Given the description of an element on the screen output the (x, y) to click on. 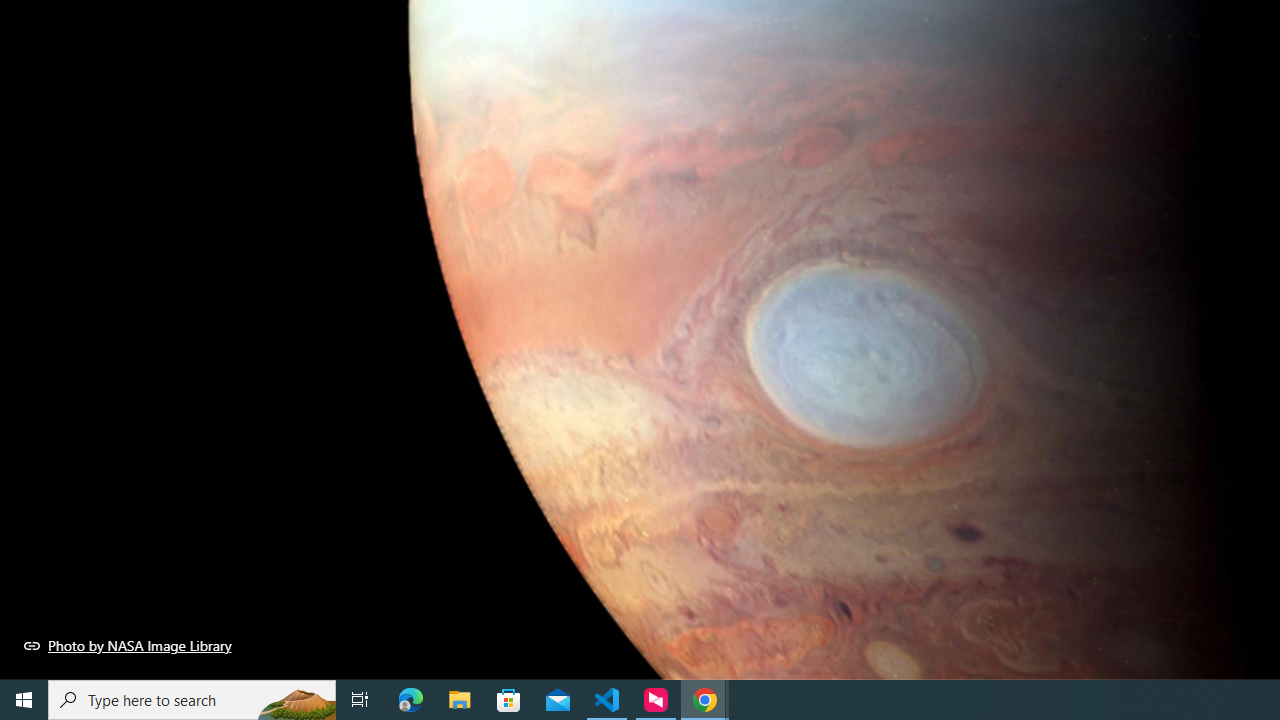
Photo by NASA Image Library (127, 645)
